Given the description of an element on the screen output the (x, y) to click on. 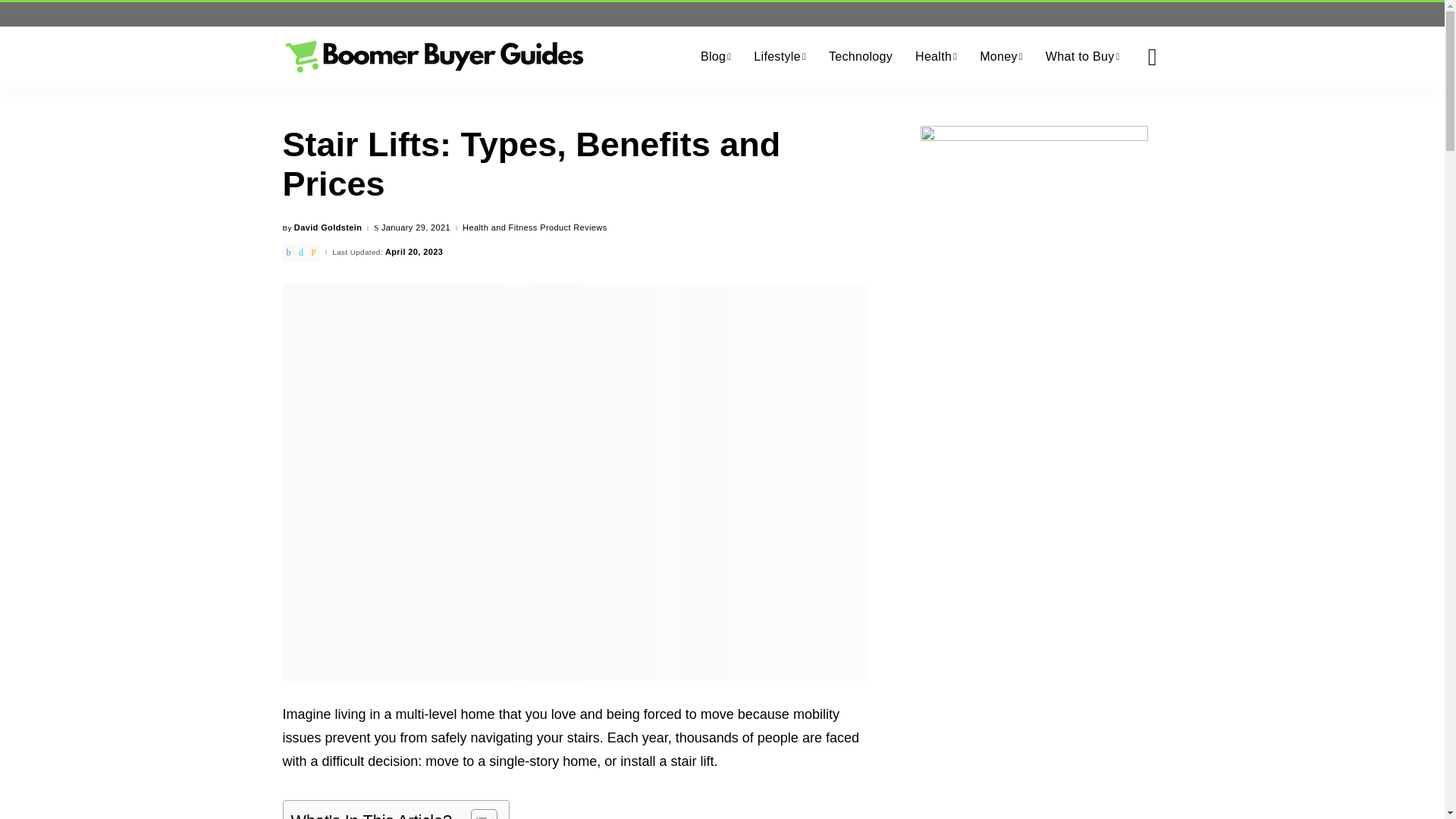
2021-01-29T07:51:09-08:00 (415, 227)
Boomer Buyer Guides (433, 56)
